Given the description of an element on the screen output the (x, y) to click on. 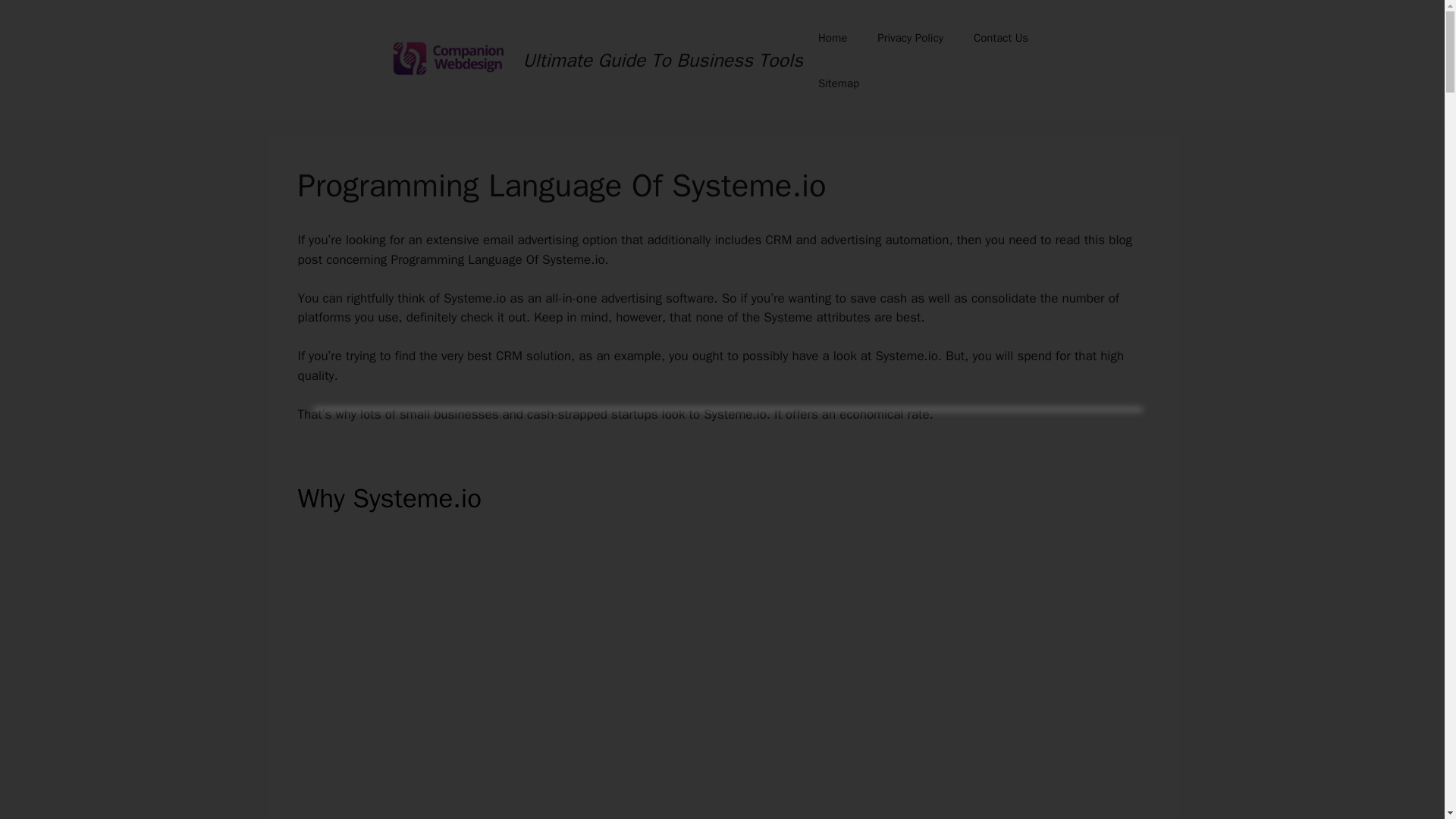
Home (832, 37)
Ultimate Guide To Business Tools (662, 60)
Privacy Policy (909, 37)
Sitemap (839, 83)
Contact Us (1000, 37)
